Given the description of an element on the screen output the (x, y) to click on. 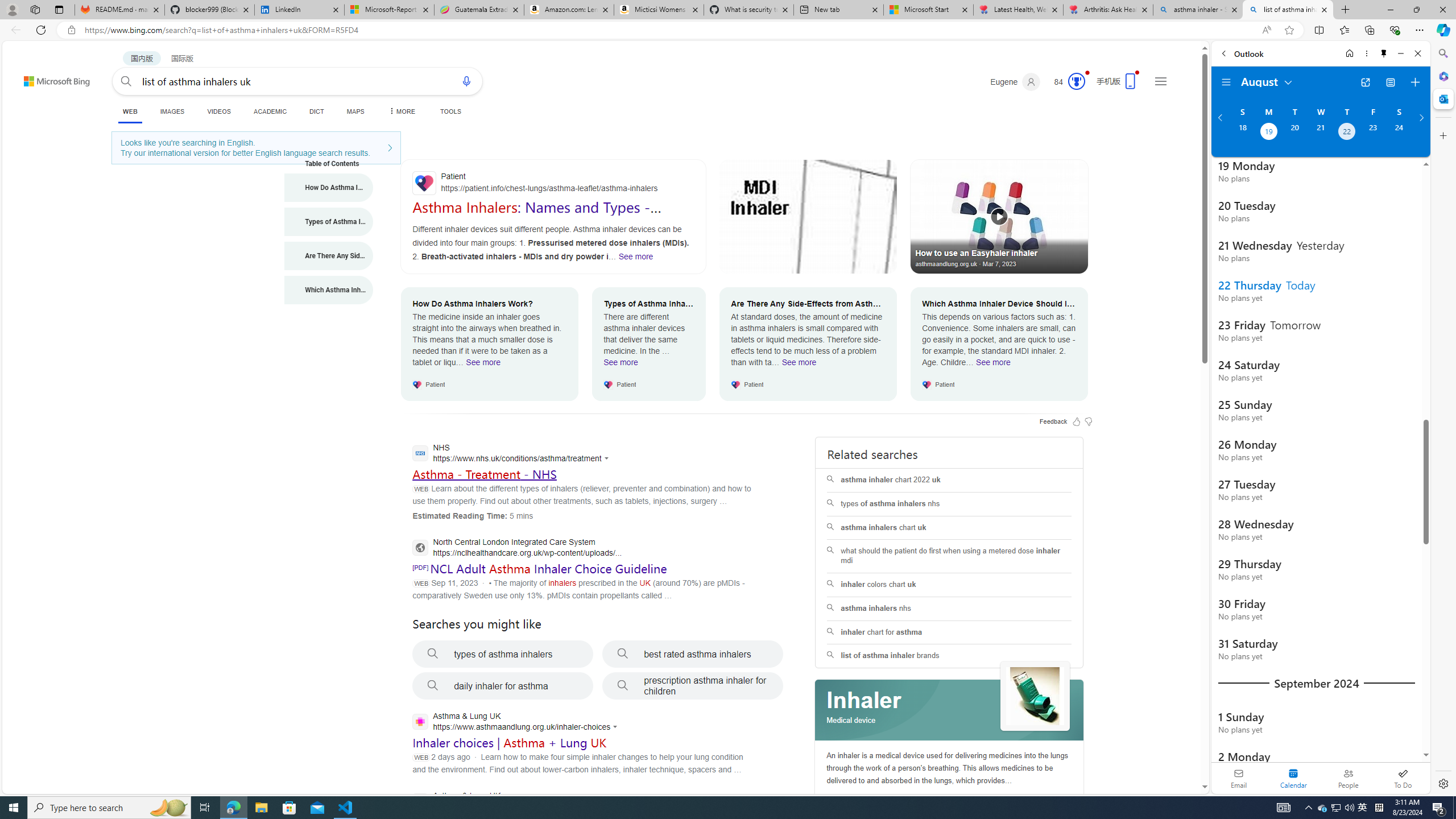
Estimated Reading Time: 5 mins (472, 515)
MAPS (355, 111)
August (1267, 80)
Back to Bing search (50, 78)
inhaler colors chart uk (949, 584)
VIDEOS (218, 111)
list of asthma inhaler brands (949, 656)
DICT (316, 111)
types of asthma inhalers nhs (949, 504)
daily inhaler for asthma (503, 685)
